Given the description of an element on the screen output the (x, y) to click on. 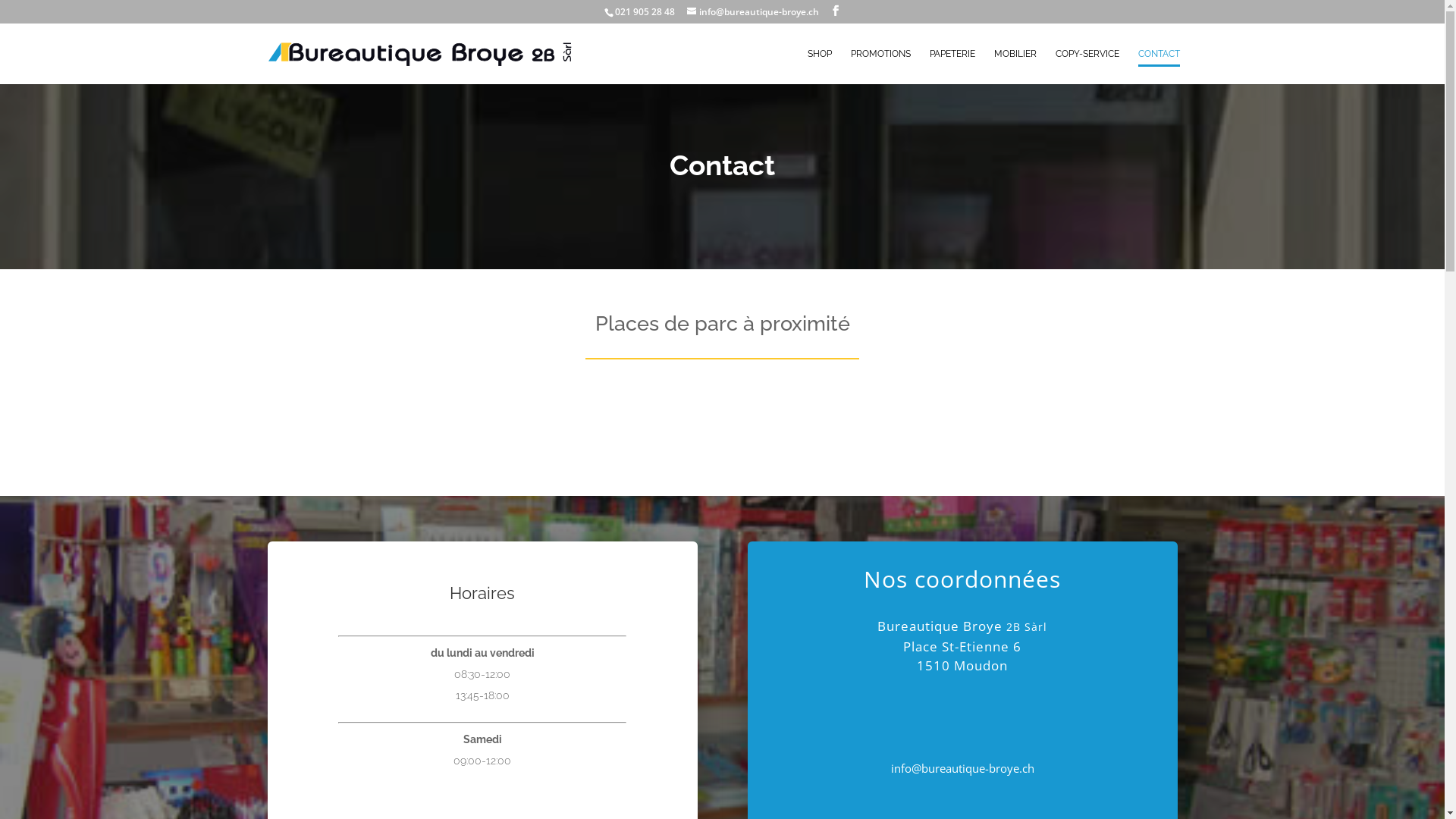
SHOP Element type: text (818, 66)
PROMOTIONS Element type: text (880, 66)
CONTACT Element type: text (1158, 66)
MOBILIER Element type: text (1014, 66)
COPY-SERVICE Element type: text (1087, 66)
info@bureautique-broye.ch Element type: text (753, 11)
PAPETERIE Element type: text (952, 66)
